Given the description of an element on the screen output the (x, y) to click on. 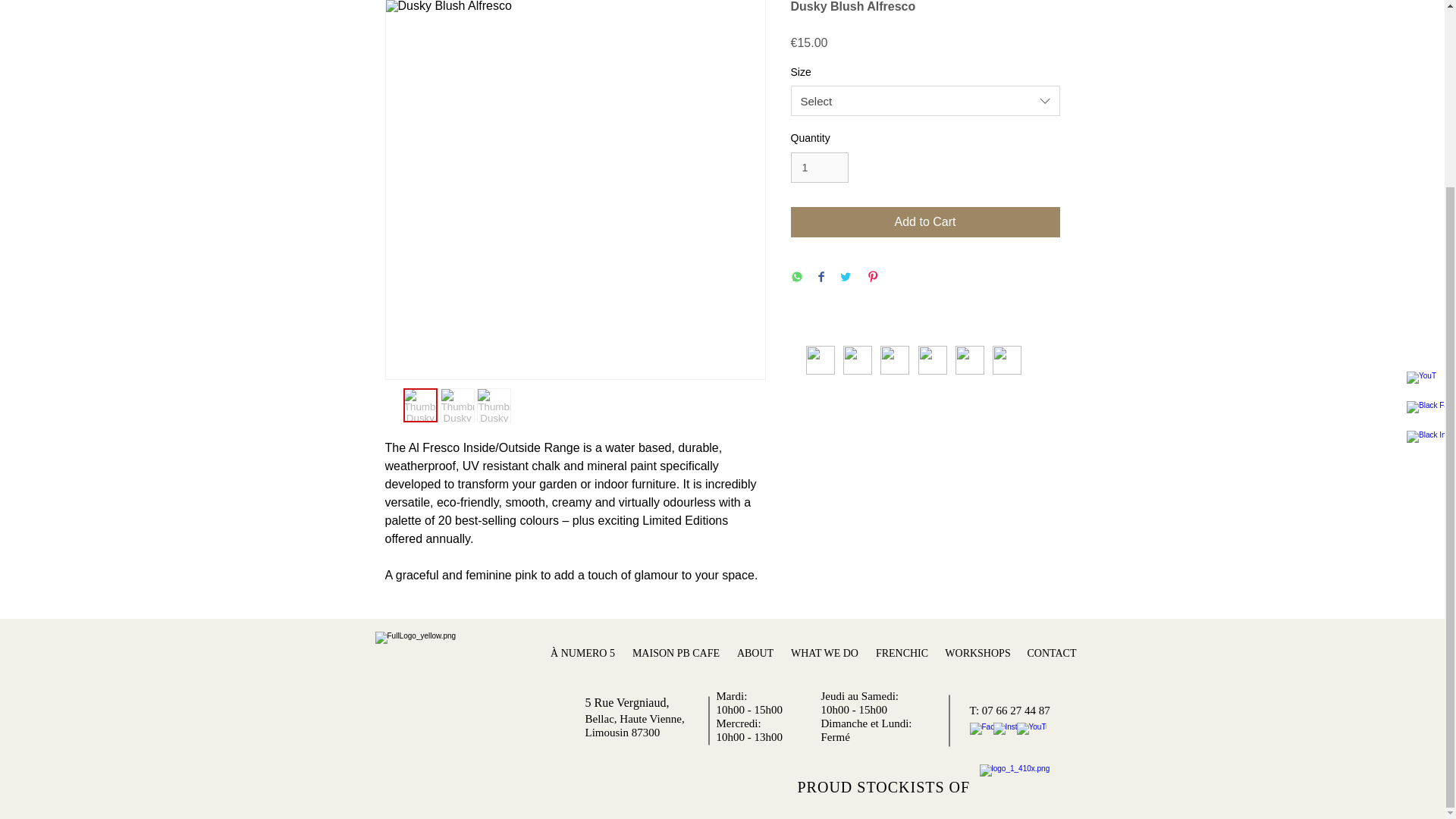
MAISON PB CAFE (675, 653)
VictoryLane.png (819, 359)
VictoryLane.png (893, 359)
VictoryLane.png (931, 359)
ABOUT (754, 653)
VictoryLane.png (1005, 359)
1 (818, 167)
VictoryLane.png (969, 359)
FRENCHIC (902, 653)
Select (924, 100)
VictoryLane.png (857, 359)
WHAT WE DO (825, 653)
Add to Cart (924, 222)
